Given the description of an element on the screen output the (x, y) to click on. 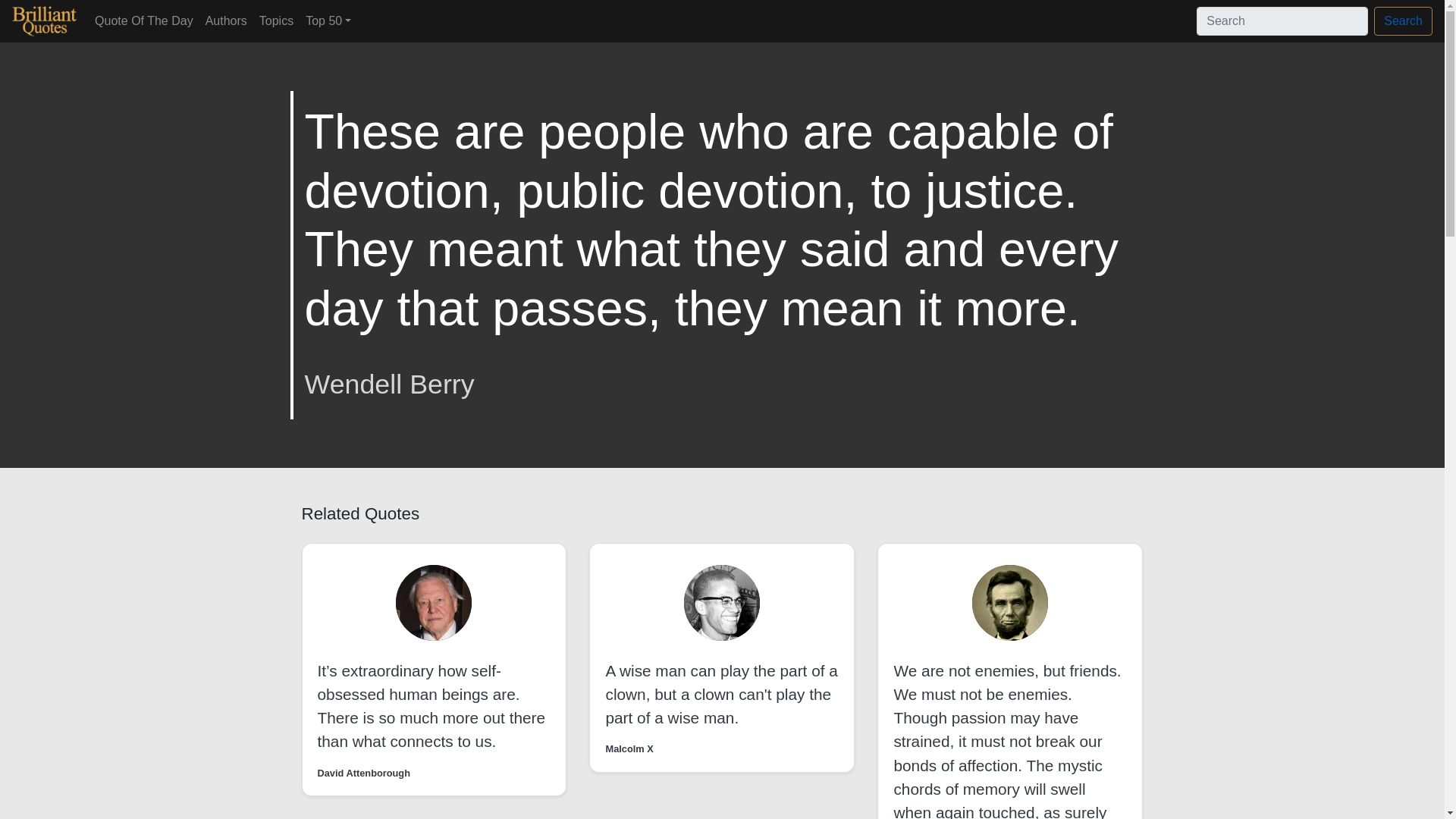
Quote Of The Day (143, 20)
Top 50 (327, 20)
Search (1403, 21)
Malcolm X (628, 748)
David Attenborough (363, 772)
Topics (276, 20)
Authors (226, 20)
